Given the description of an element on the screen output the (x, y) to click on. 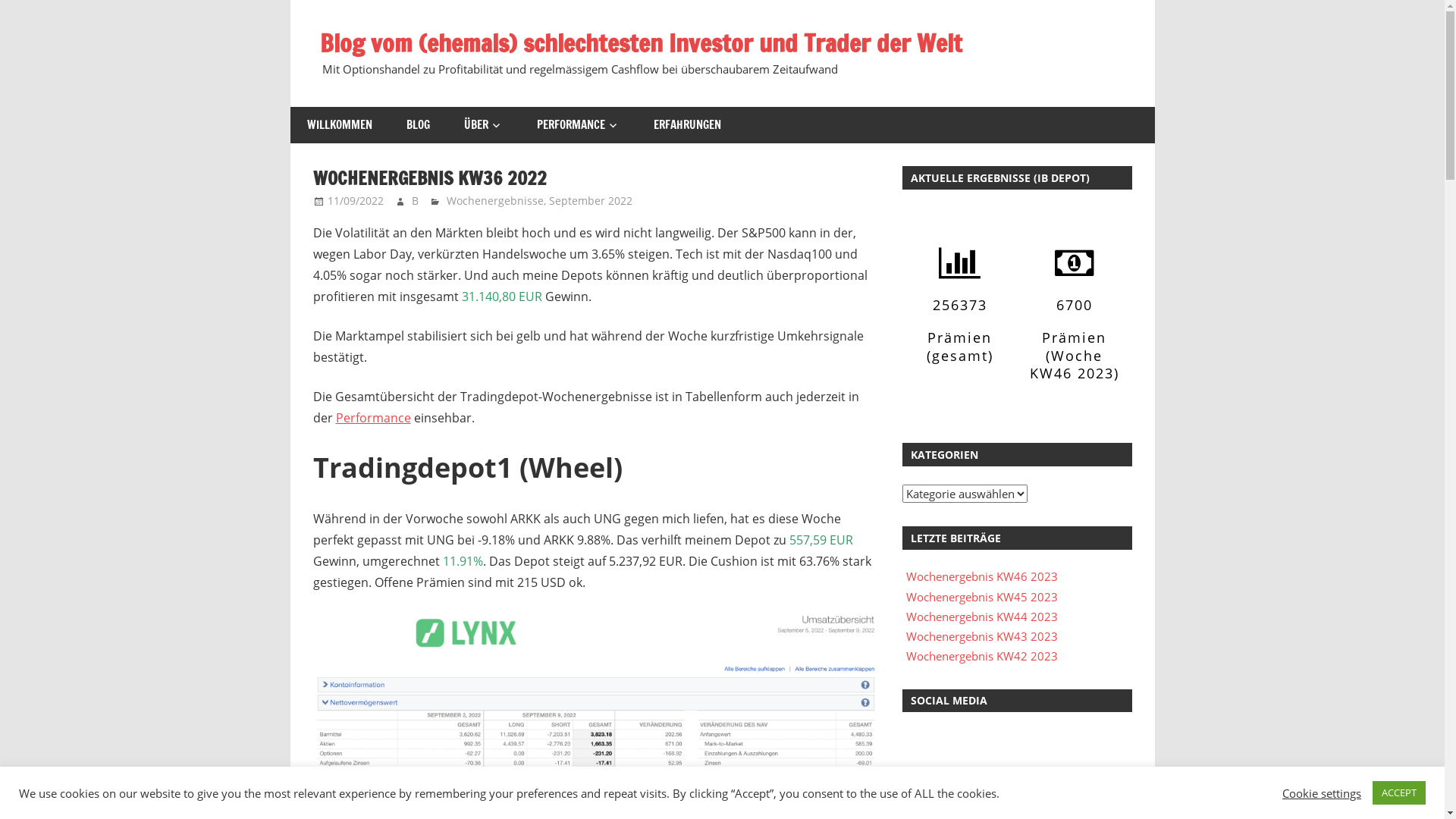
September 2022 Element type: text (590, 200)
Performance Element type: text (372, 417)
ERFAHRUNGEN Element type: text (687, 125)
Wochenergebnis KW42 2023 Element type: text (981, 655)
Wochenergebnis KW43 2023 Element type: text (981, 635)
ACCEPT Element type: text (1398, 792)
11/09/2022 Element type: text (355, 200)
Wochenergebnis KW46 2023 Element type: text (981, 575)
PERFORMANCE Element type: text (578, 125)
BLOG Element type: text (418, 125)
B Element type: text (414, 200)
Wochenergebnisse Element type: text (494, 200)
Cookie settings Element type: text (1321, 792)
WILLKOMMEN Element type: text (339, 125)
Wochenergebnis KW44 2023 Element type: text (981, 616)
Wochenergebnis KW45 2023 Element type: text (981, 596)
